Given the description of an element on the screen output the (x, y) to click on. 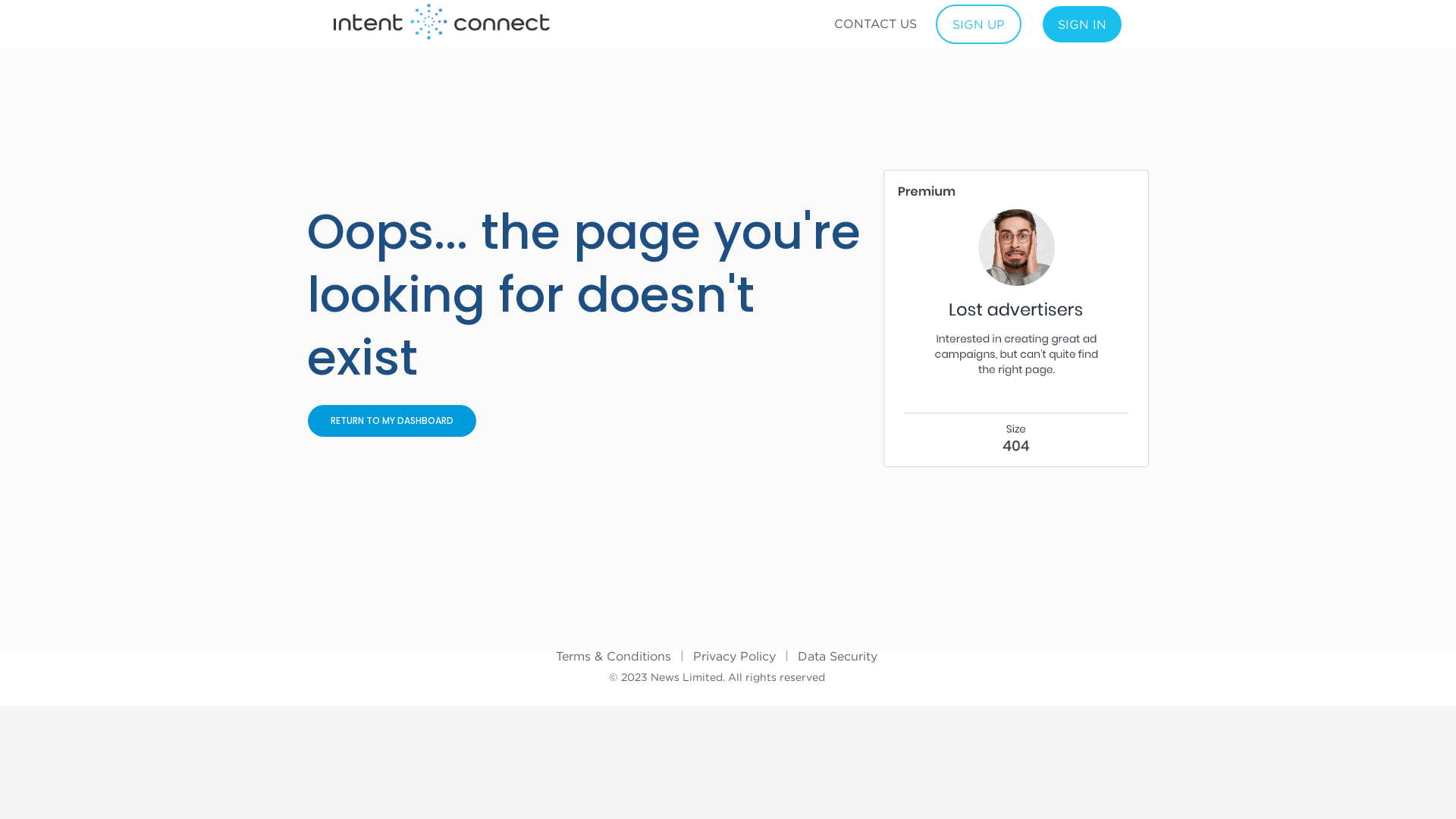
SIGN UP Element type: text (978, 23)
CONTACT US Element type: text (875, 23)
RETURN TO MY DASHBOARD Element type: text (391, 420)
Data Security Element type: text (837, 655)
Terms & Conditions Element type: text (613, 655)
SIGN IN Element type: text (1081, 24)
Privacy Policy Element type: text (734, 655)
